Given the description of an element on the screen output the (x, y) to click on. 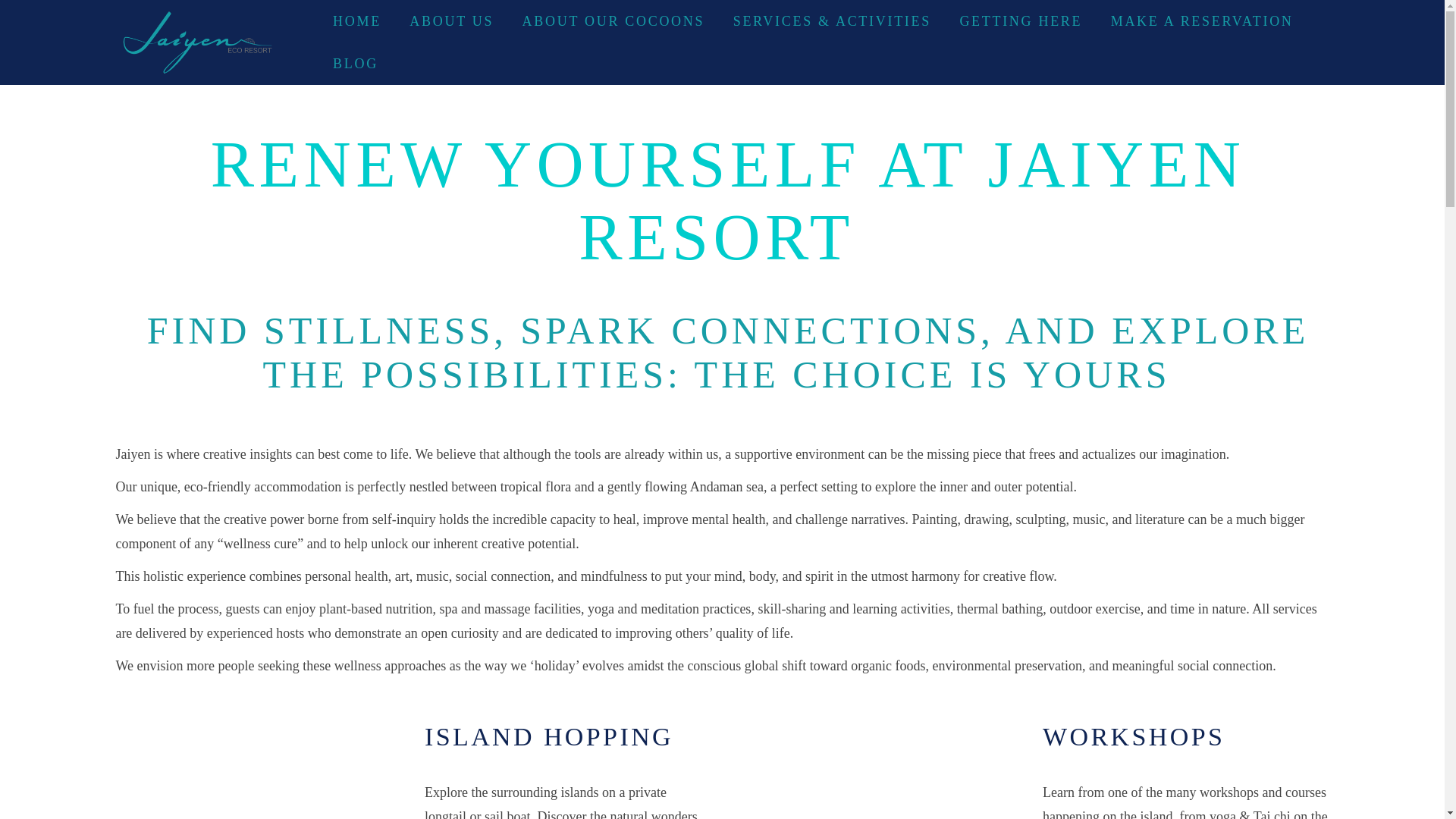
MAKE A RESERVATION (1202, 21)
GETTING HERE (1020, 21)
HOME (357, 21)
BLOG (355, 62)
Jaiyen Eco Resort (206, 42)
ABOUT OUR COCOONS (613, 21)
ABOUT US (451, 21)
